Given the description of an element on the screen output the (x, y) to click on. 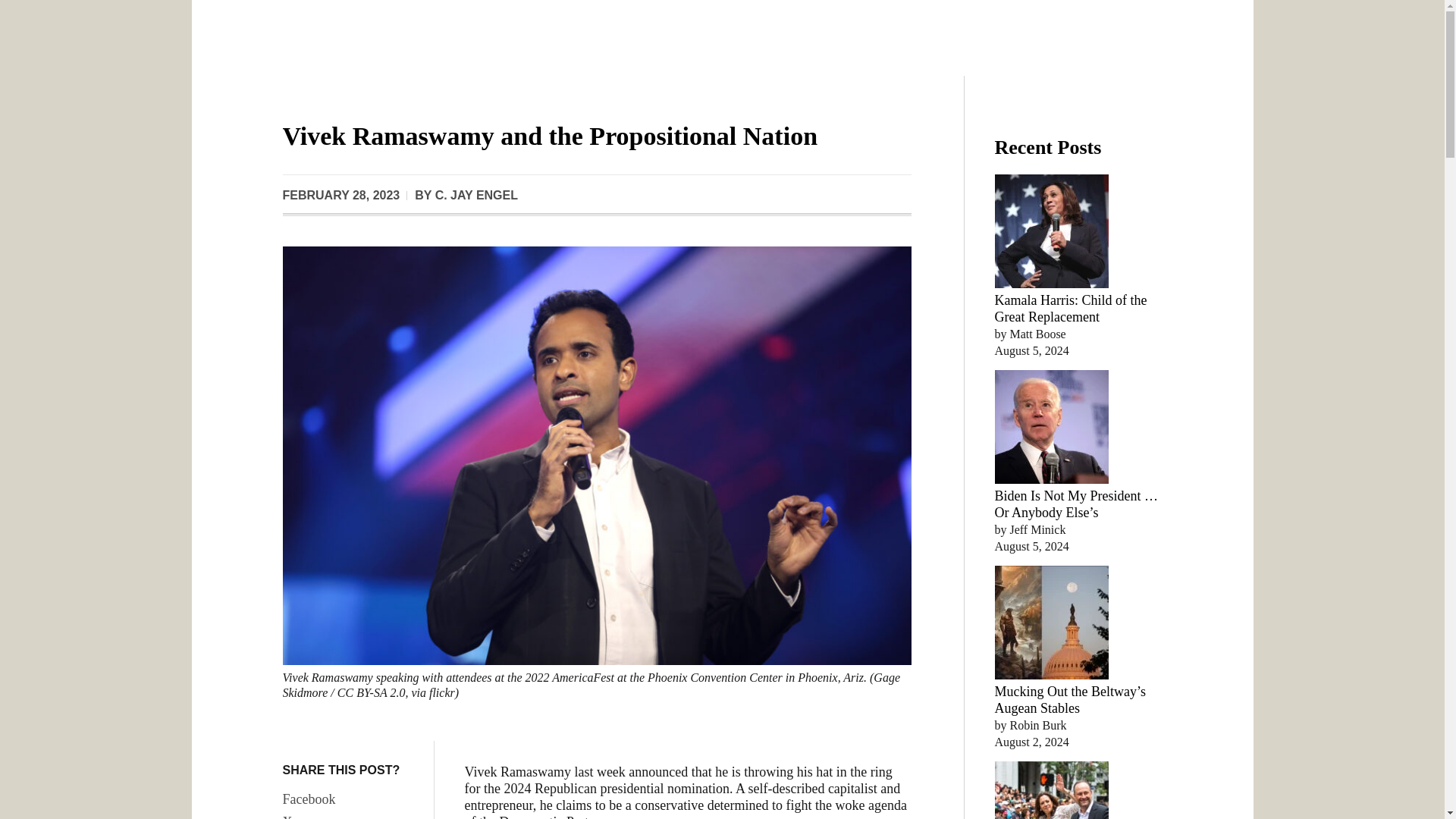
Kamala Harris: Child of the Great Replacement (1070, 308)
C. JAY ENGEL (476, 195)
Posts by C. Jay Engel (476, 195)
Facebook (349, 798)
February 28, 2023 (340, 195)
X (349, 815)
